Given the description of an element on the screen output the (x, y) to click on. 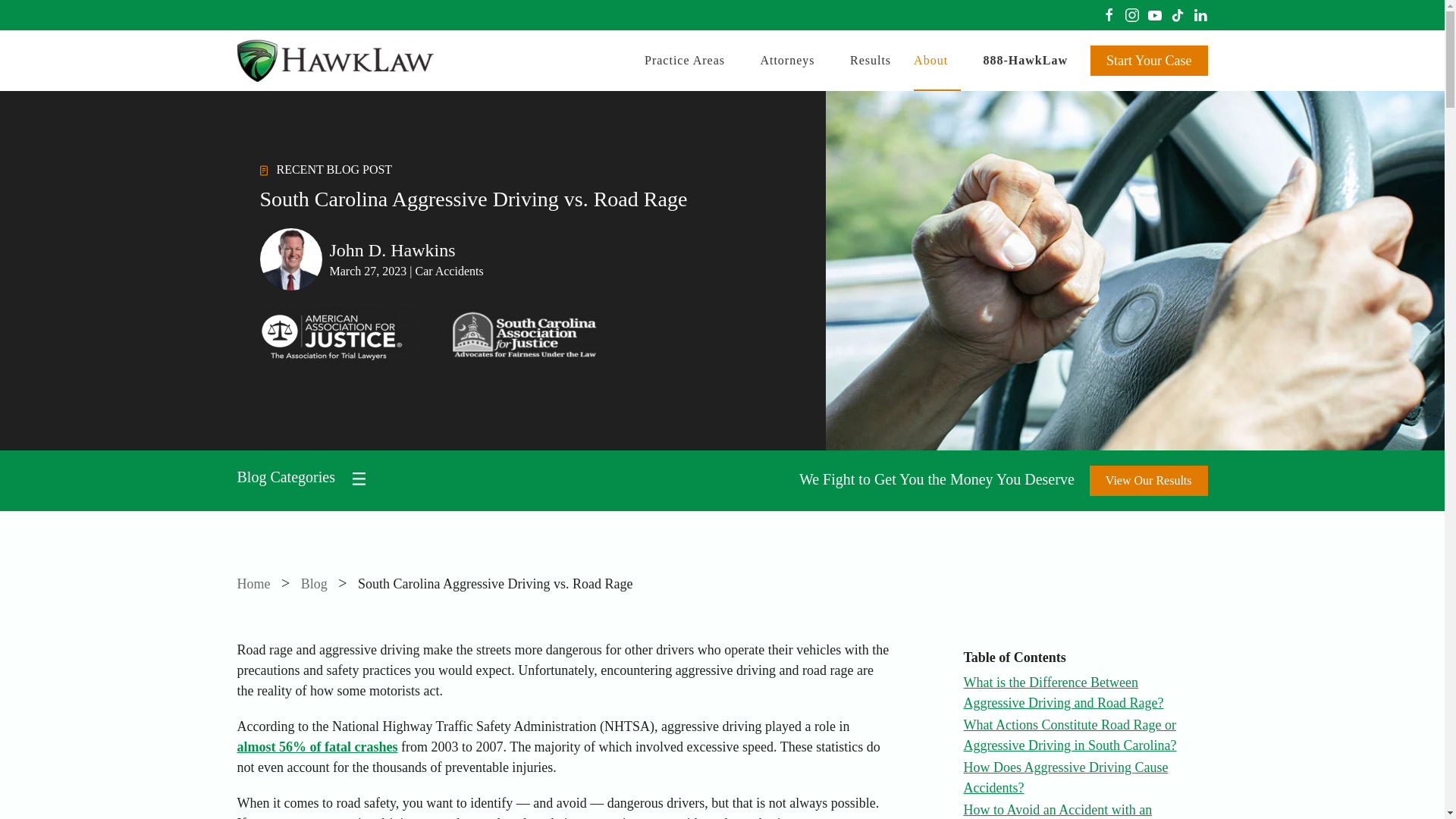
Home (252, 583)
